Given the description of an element on the screen output the (x, y) to click on. 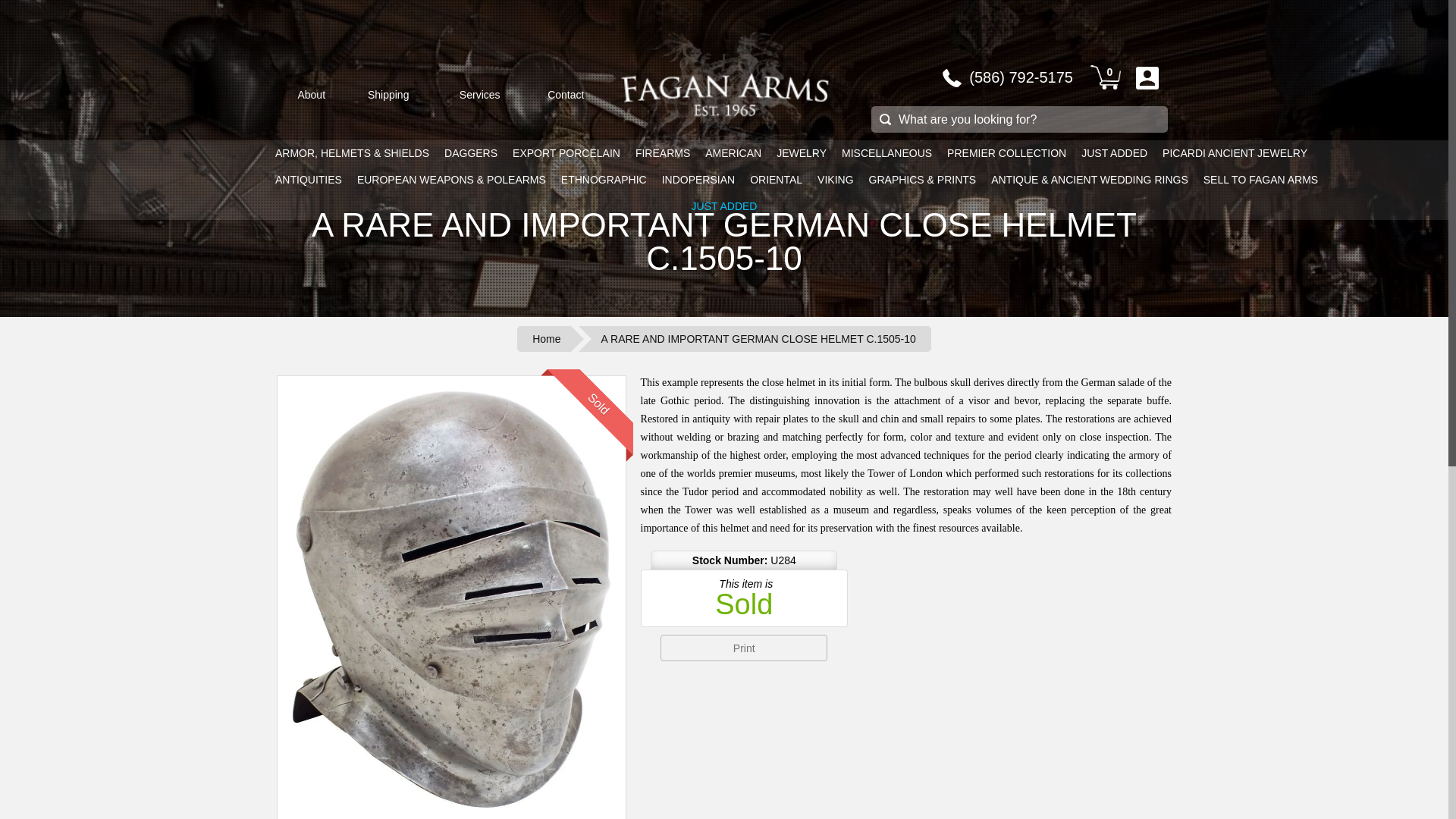
Back to the frontpage (543, 338)
